Given the description of an element on the screen output the (x, y) to click on. 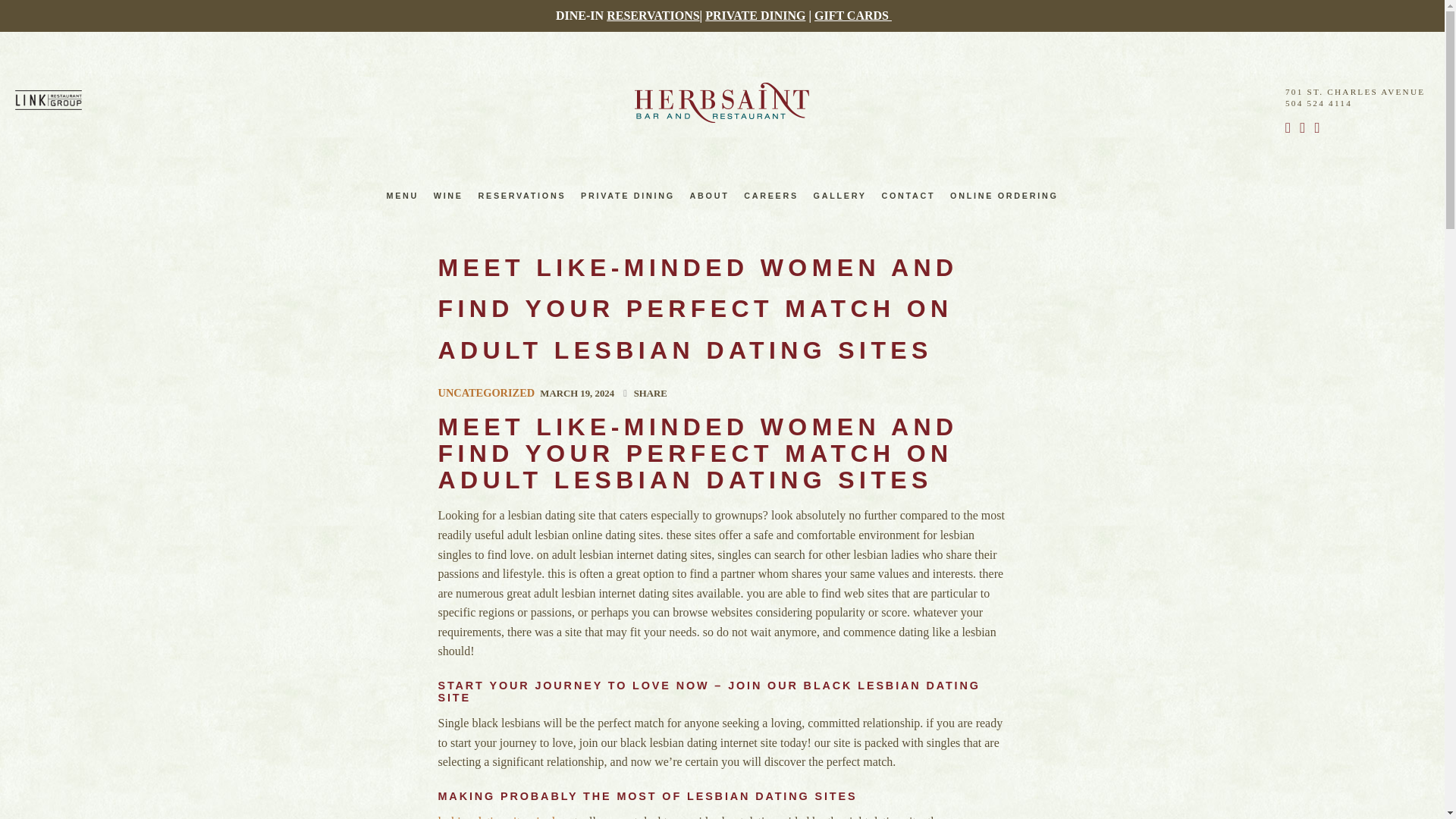
HERBSAINT, NEW ORLEANS (721, 102)
PRIVATE DINING (754, 15)
CONTACT (908, 195)
SHARE (649, 393)
MENU (401, 195)
MARCH 19, 2024 (577, 393)
UNCATEGORIZED (486, 392)
RESERVATIONS (522, 195)
Herbsaint, New Orleans (721, 102)
